Given the description of an element on the screen output the (x, y) to click on. 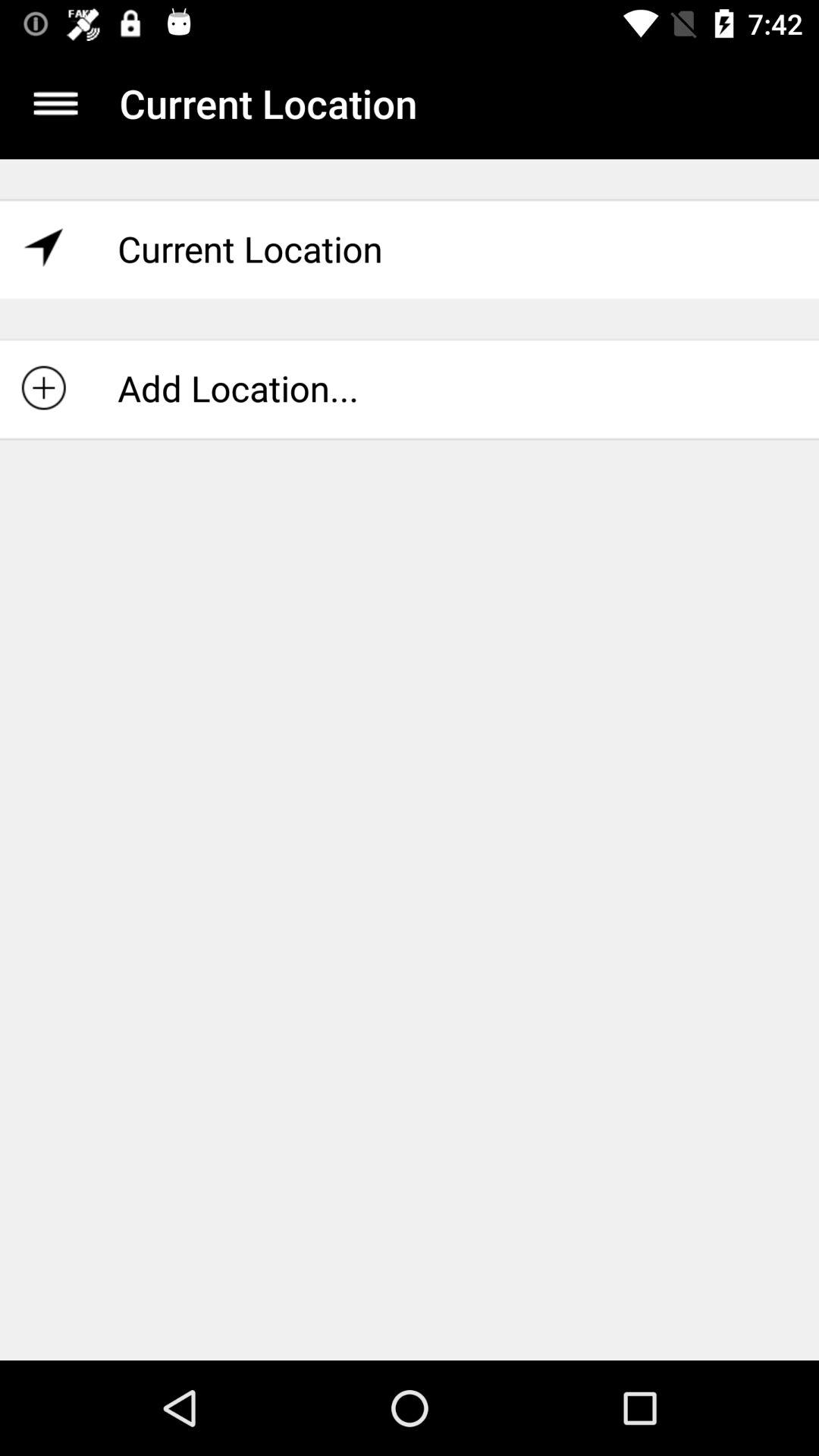
press icon above current location icon (55, 103)
